Given the description of an element on the screen output the (x, y) to click on. 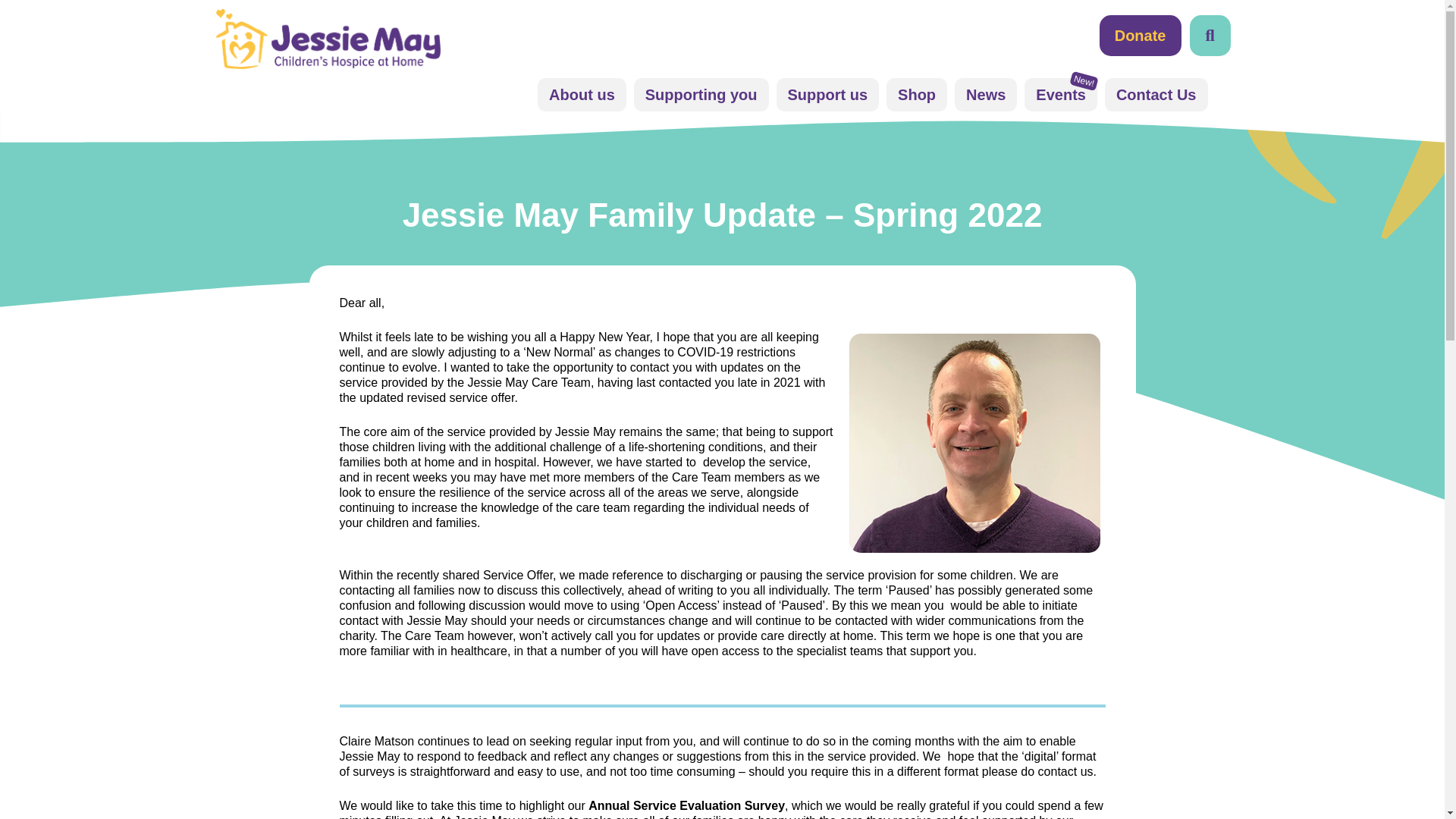
Donate (1139, 35)
Events (1061, 94)
Support us (827, 94)
News (985, 94)
Supporting you (700, 94)
Shop (916, 94)
About us (581, 94)
Search (1122, 35)
Contact Us (1156, 94)
